Given the description of an element on the screen output the (x, y) to click on. 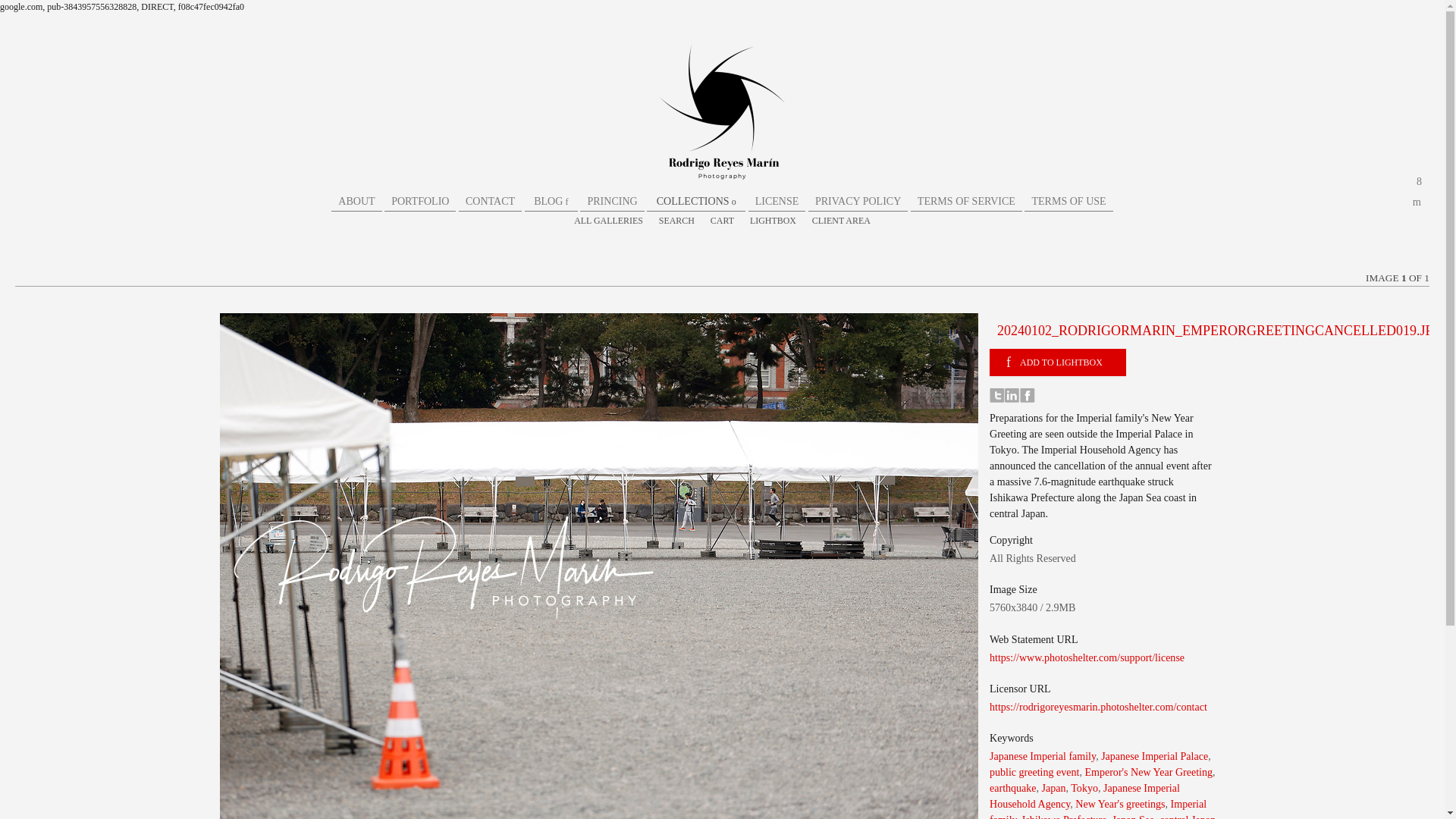
earthquake (1013, 787)
PRINCING (611, 200)
SEARCH (676, 220)
ADD TO LIGHTBOX (1057, 361)
TERMS OF USE (1067, 200)
Japanese Imperial Household Agency (1084, 795)
Tokyo (1083, 787)
ALL GALLERIES (608, 220)
ABOUT (355, 200)
TERMS OF SERVICE (965, 200)
